Given the description of an element on the screen output the (x, y) to click on. 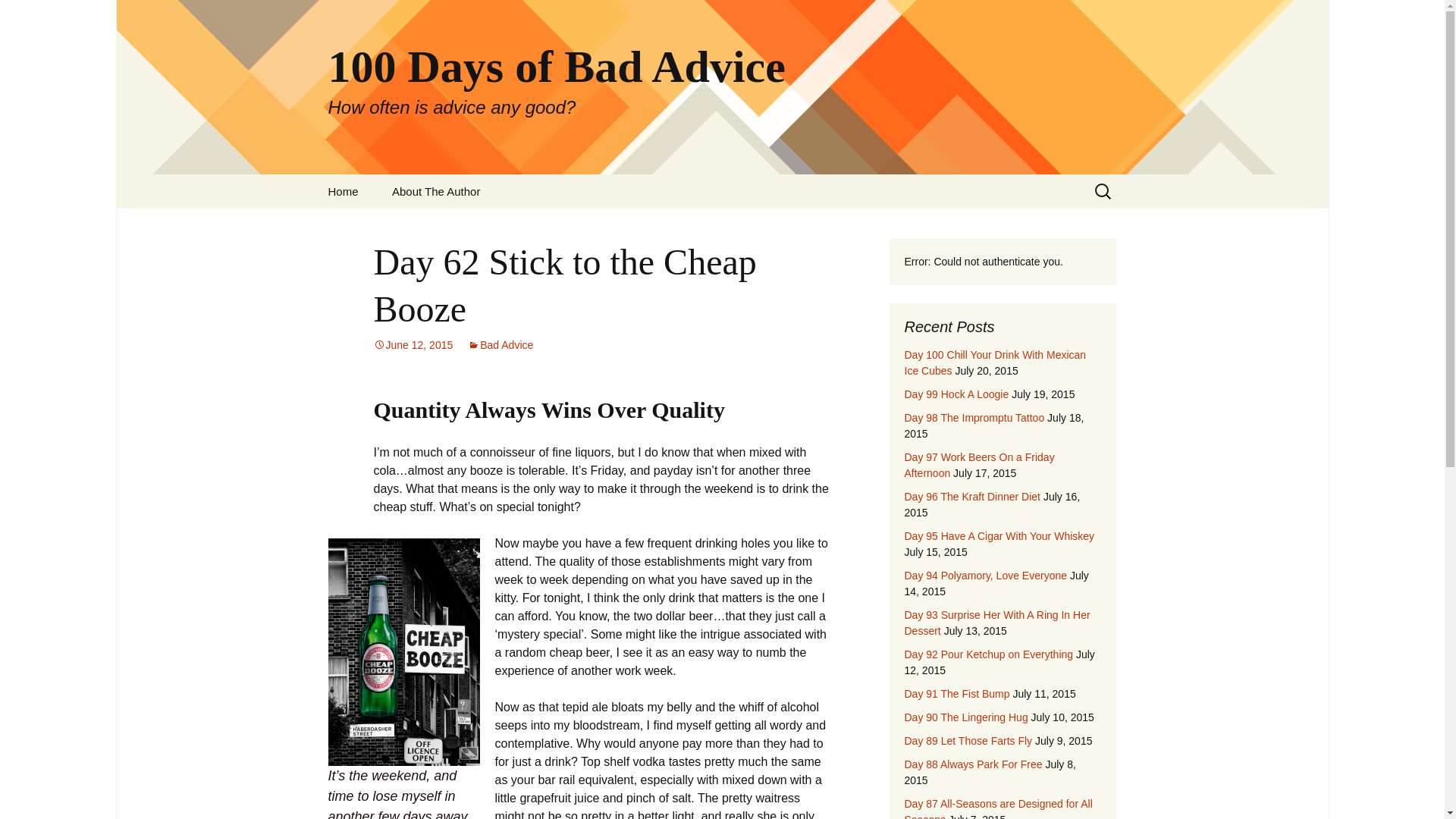
Day 96 The Kraft Dinner Diet (972, 496)
Day 87 All-Seasons are Designed for All Seasons (998, 808)
Day 99 Hock A Loogie (956, 394)
Permalink to Day 62 Stick to the Cheap Booze (412, 345)
Day 91 The Fist Bump (956, 693)
Day 95 Have A Cigar With Your Whiskey (999, 535)
Home (342, 191)
Day 100 Chill Your Drink With Mexican Ice Cubes (995, 362)
Day 88 Always Park For Free (973, 764)
